Given the description of an element on the screen output the (x, y) to click on. 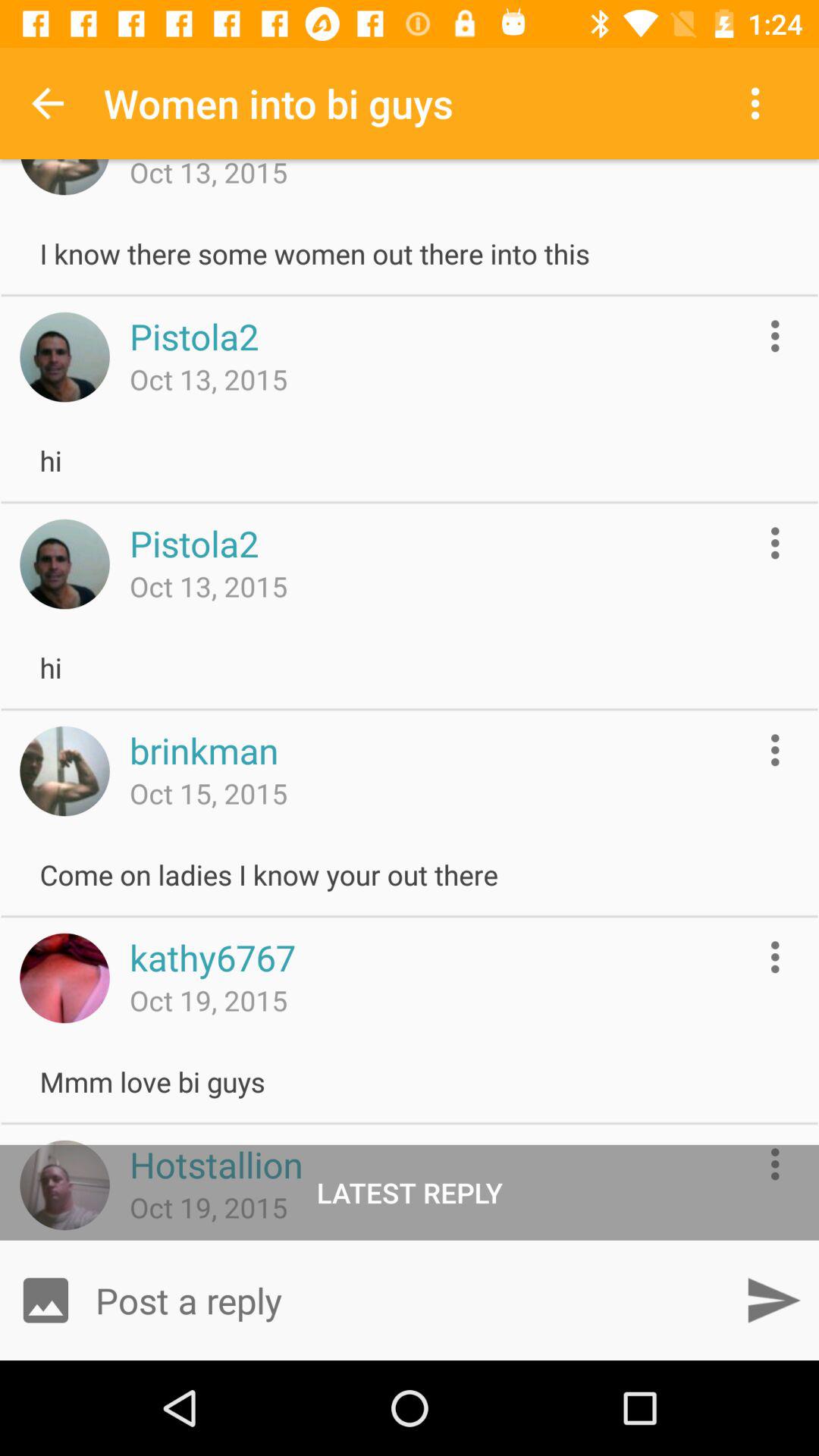
open icon below latest reply item (45, 1300)
